Given the description of an element on the screen output the (x, y) to click on. 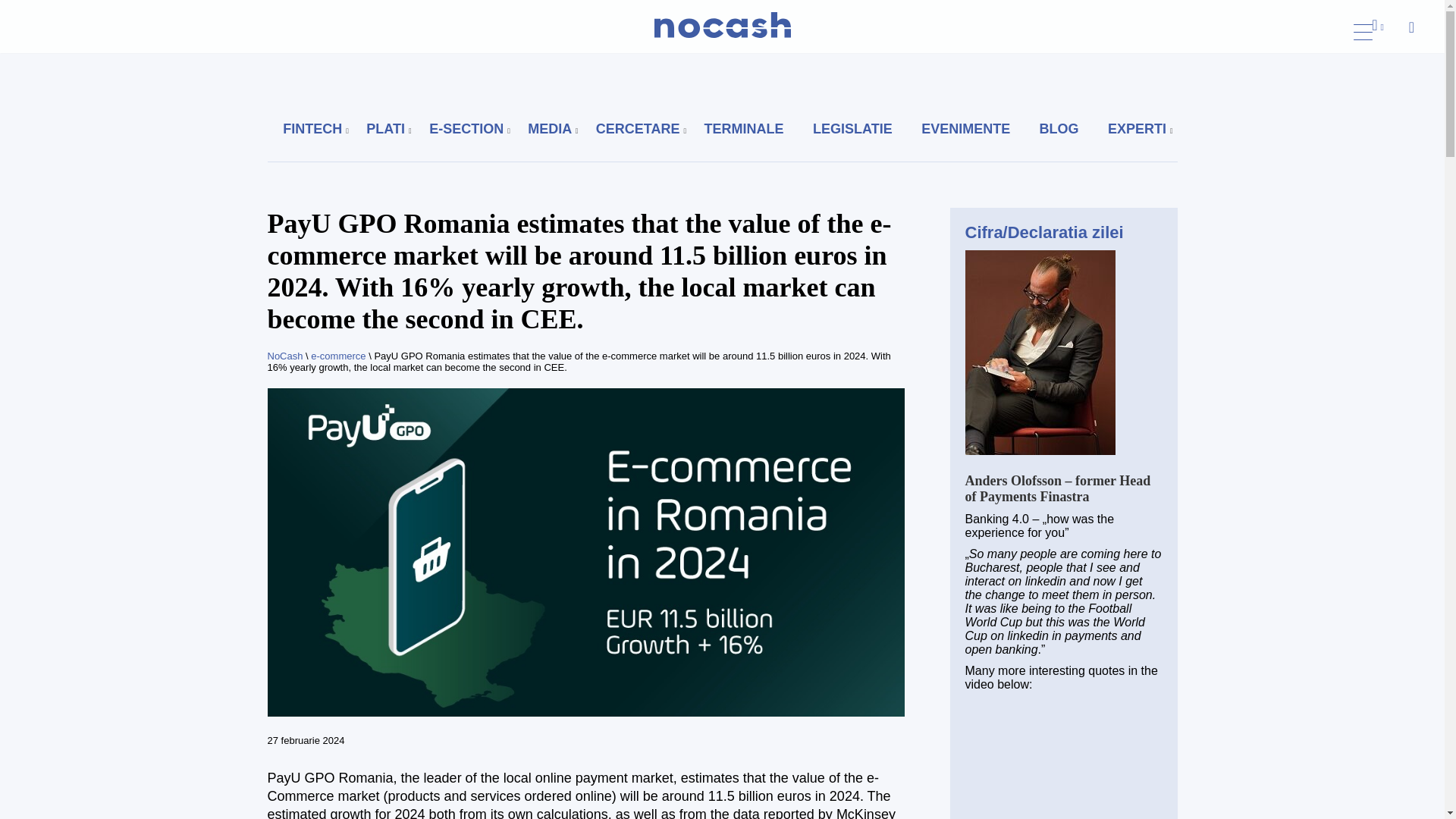
E-SECTION (466, 128)
MEDIA (548, 128)
CERCETARE (637, 128)
PLATI (385, 128)
EVENIMENTE (965, 128)
LEGISLATIE (852, 128)
EXPERTI (1137, 128)
TERMINALE (744, 128)
BLOG (1058, 128)
FINTECH (312, 128)
